Given the description of an element on the screen output the (x, y) to click on. 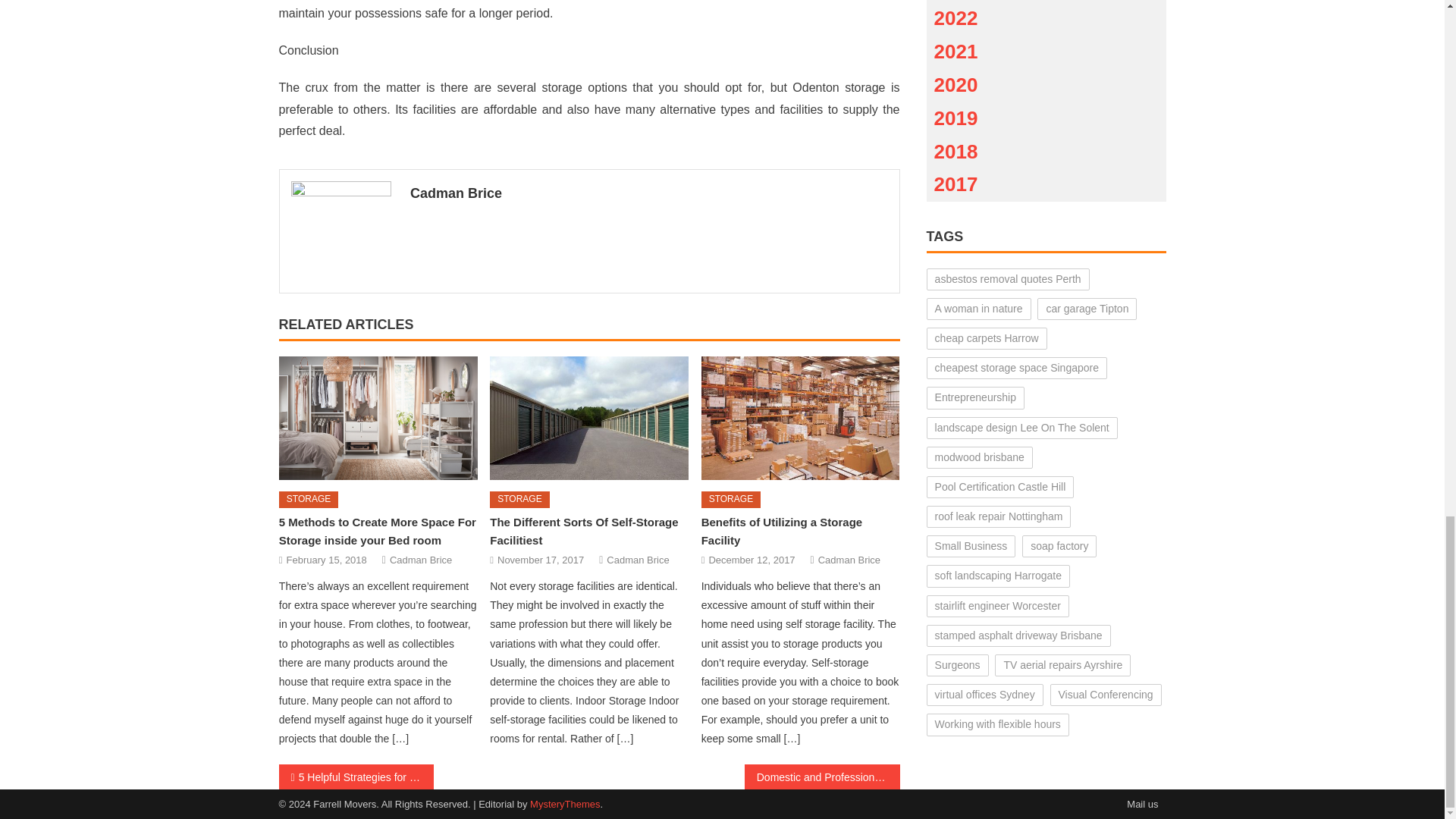
Cadman Brice (849, 559)
Cadman Brice (420, 559)
The Different Sorts Of Self-Storage Facilitiest (583, 531)
STORAGE (308, 499)
Benefits of Utilizing a Storage Facility (782, 531)
Cadman Brice (649, 192)
November 17, 2017 (540, 559)
December 12, 2017 (750, 559)
The Different Sorts Of Self-Storage Facilitiest (588, 418)
Benefits of Utilizing a Storage Facility (800, 418)
Cadman Brice (637, 559)
Domestic and Professional Moving Made Simpler (821, 776)
STORAGE (518, 499)
